Given the description of an element on the screen output the (x, y) to click on. 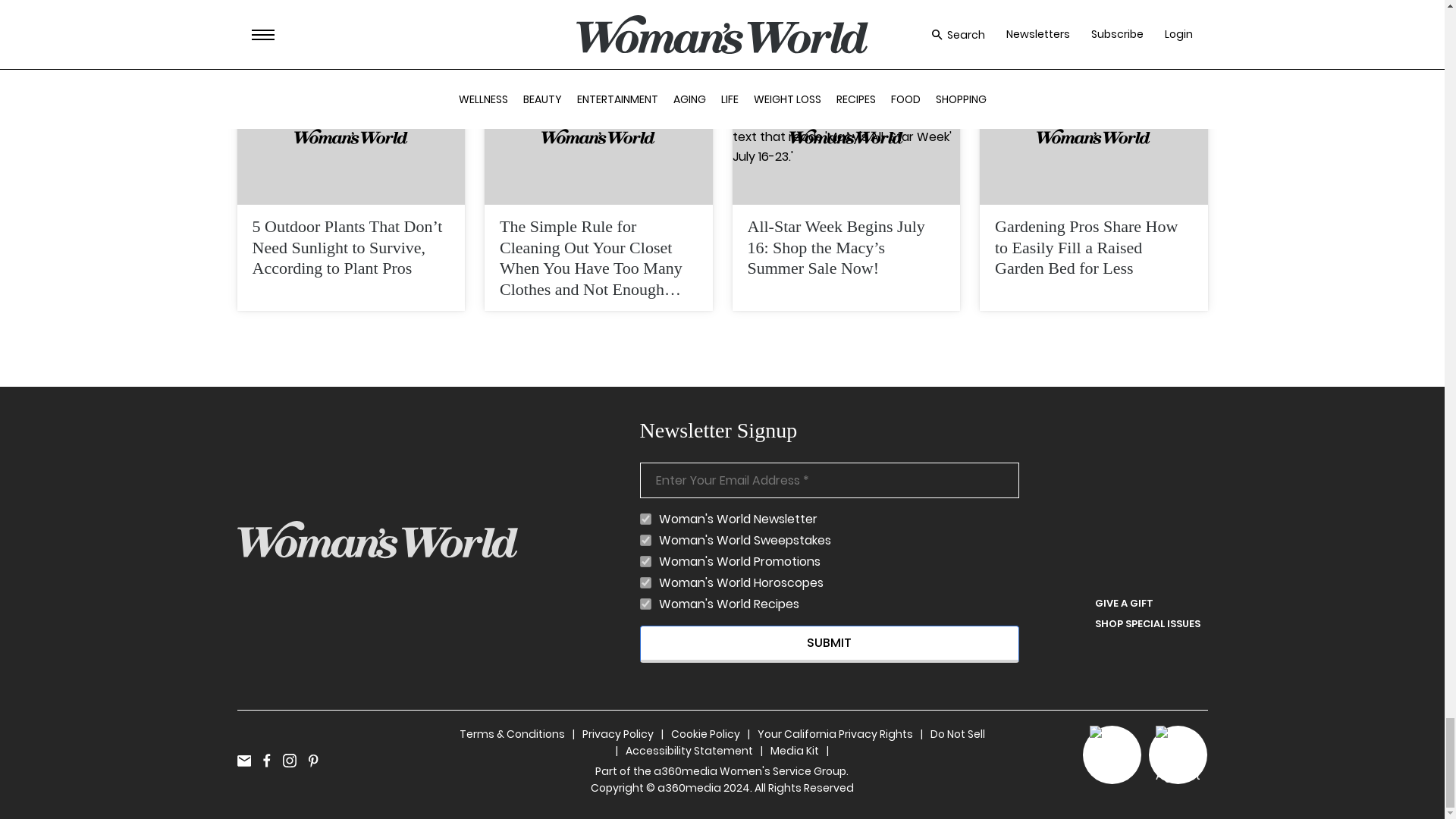
1 (645, 518)
1 (645, 603)
1 (645, 582)
1 (645, 540)
1 (645, 561)
